Given the description of an element on the screen output the (x, y) to click on. 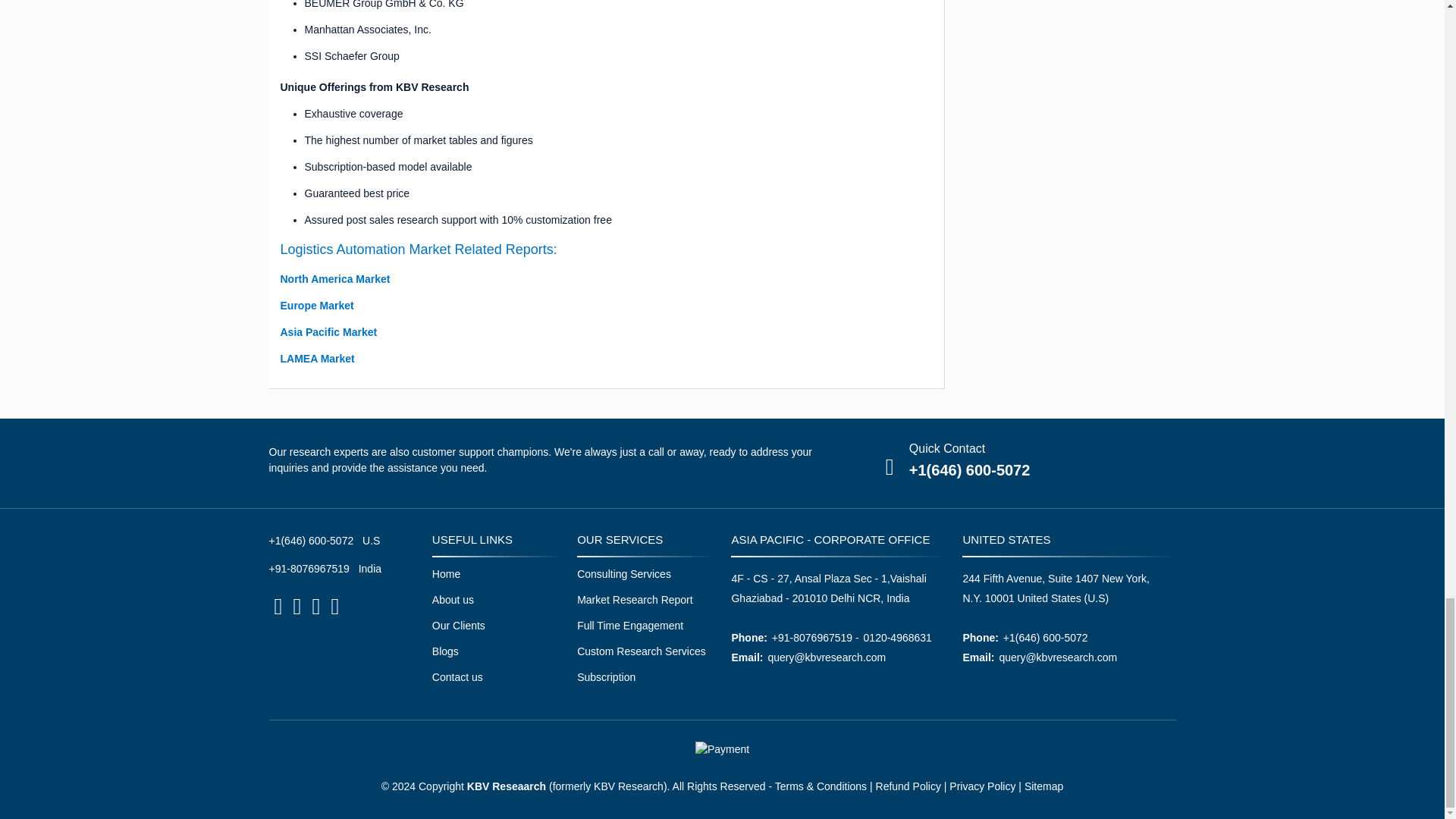
Blogs (445, 651)
Full Time Engagement (629, 624)
About us (453, 599)
Market Research Report (634, 599)
Home (446, 573)
Our Clients (458, 624)
Contact us (457, 676)
Consulting Services (623, 573)
